Given the description of an element on the screen output the (x, y) to click on. 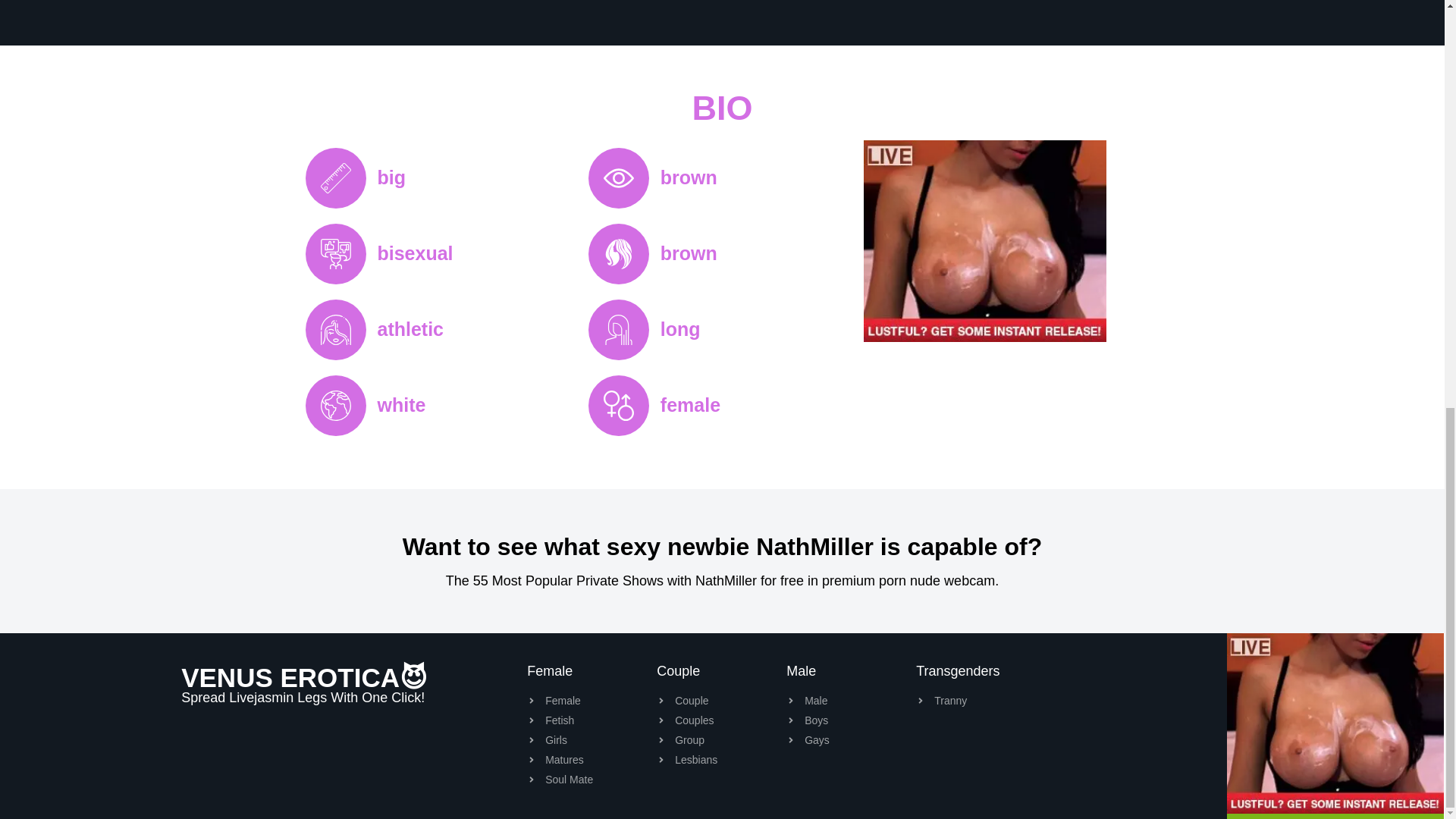
Female (591, 700)
